Given the description of an element on the screen output the (x, y) to click on. 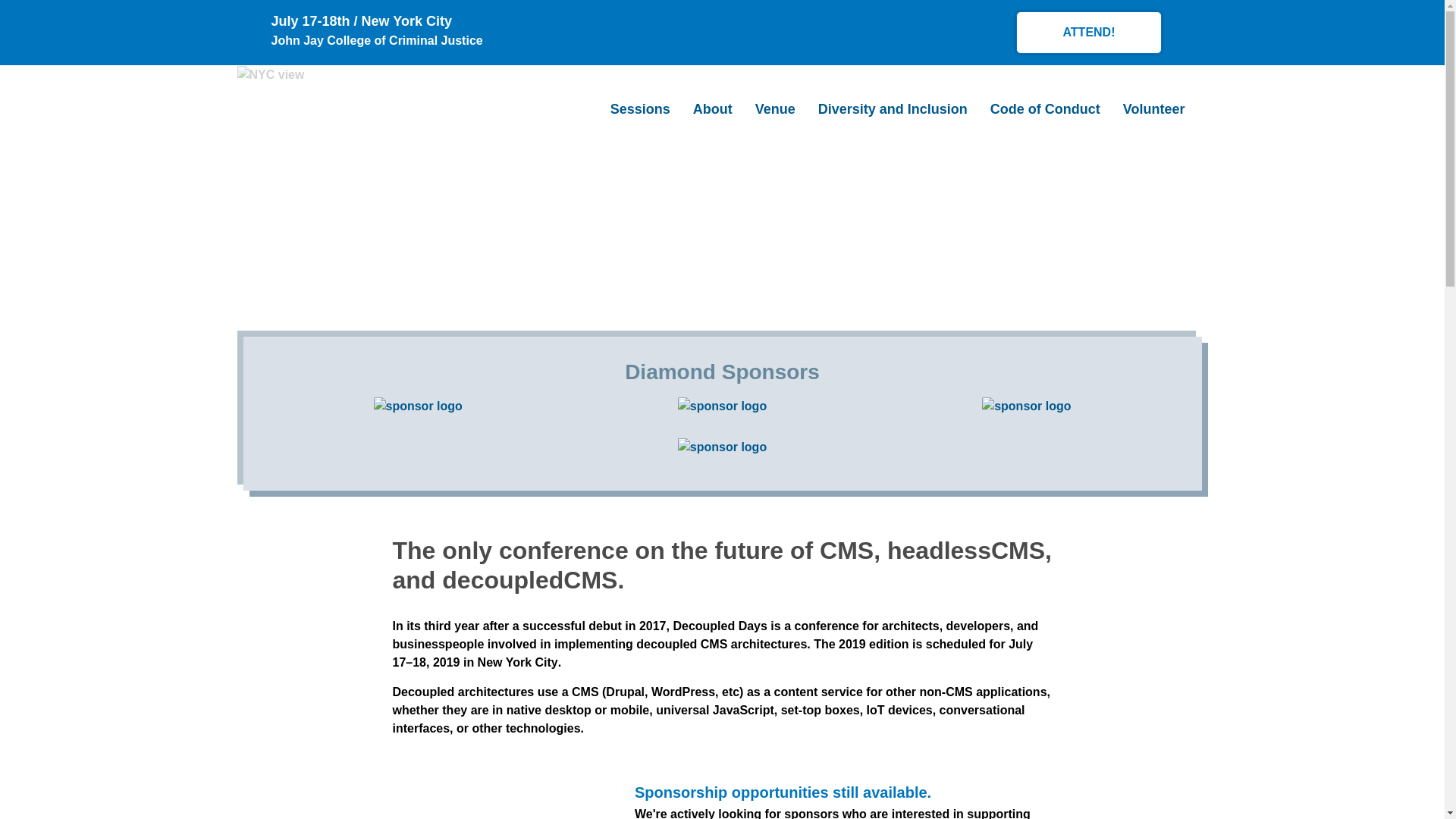
Volunteer (1153, 111)
About (712, 111)
Decoupled Days 2019 (372, 127)
Venue (774, 111)
Diversity and Inclusion (893, 111)
ATTEND! (1088, 32)
Code of Conduct (1045, 111)
Sessions (639, 111)
